Given the description of an element on the screen output the (x, y) to click on. 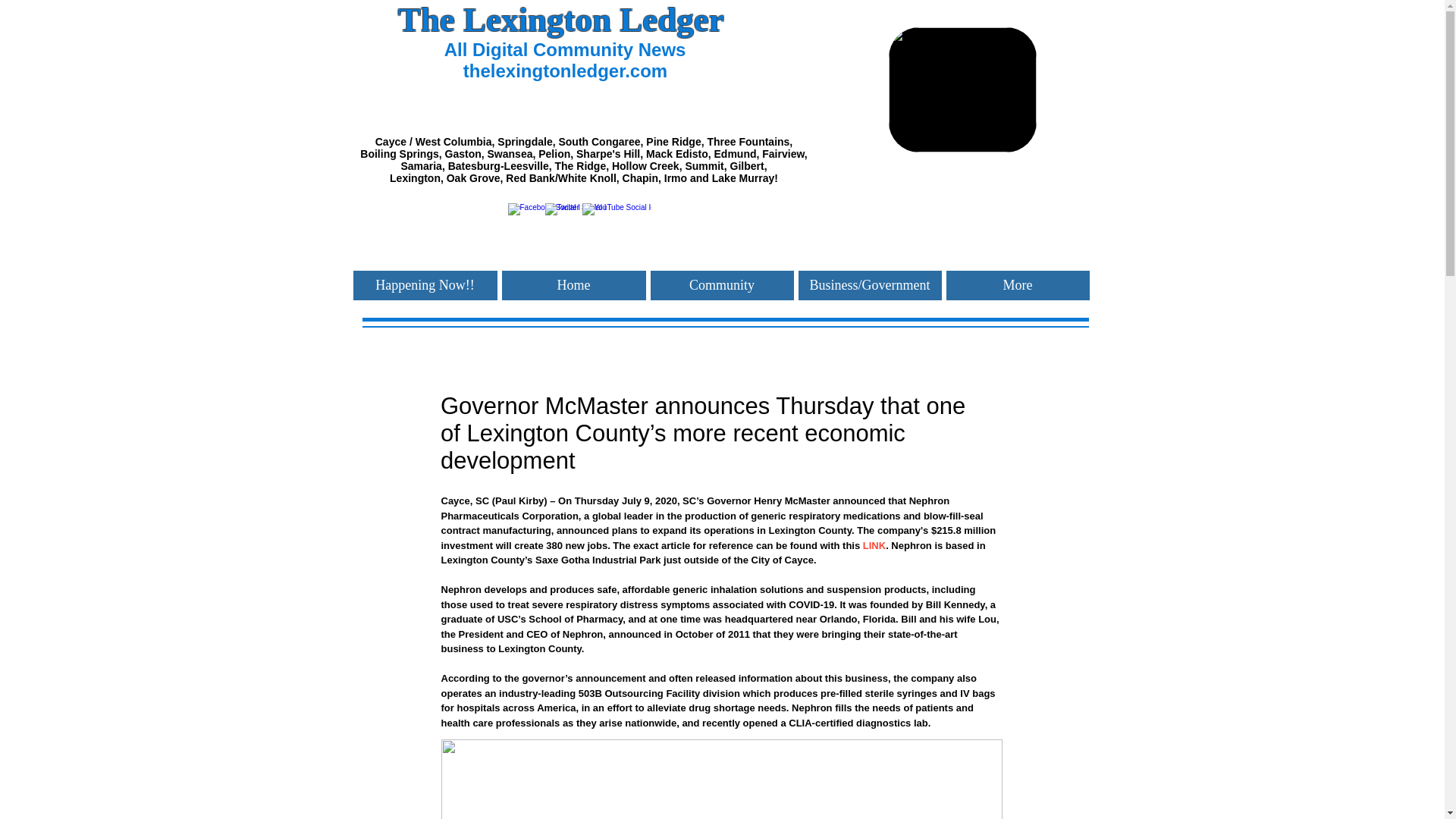
Community (721, 285)
LINK (873, 545)
Home (574, 285)
Happening Now!! (425, 285)
